Given the description of an element on the screen output the (x, y) to click on. 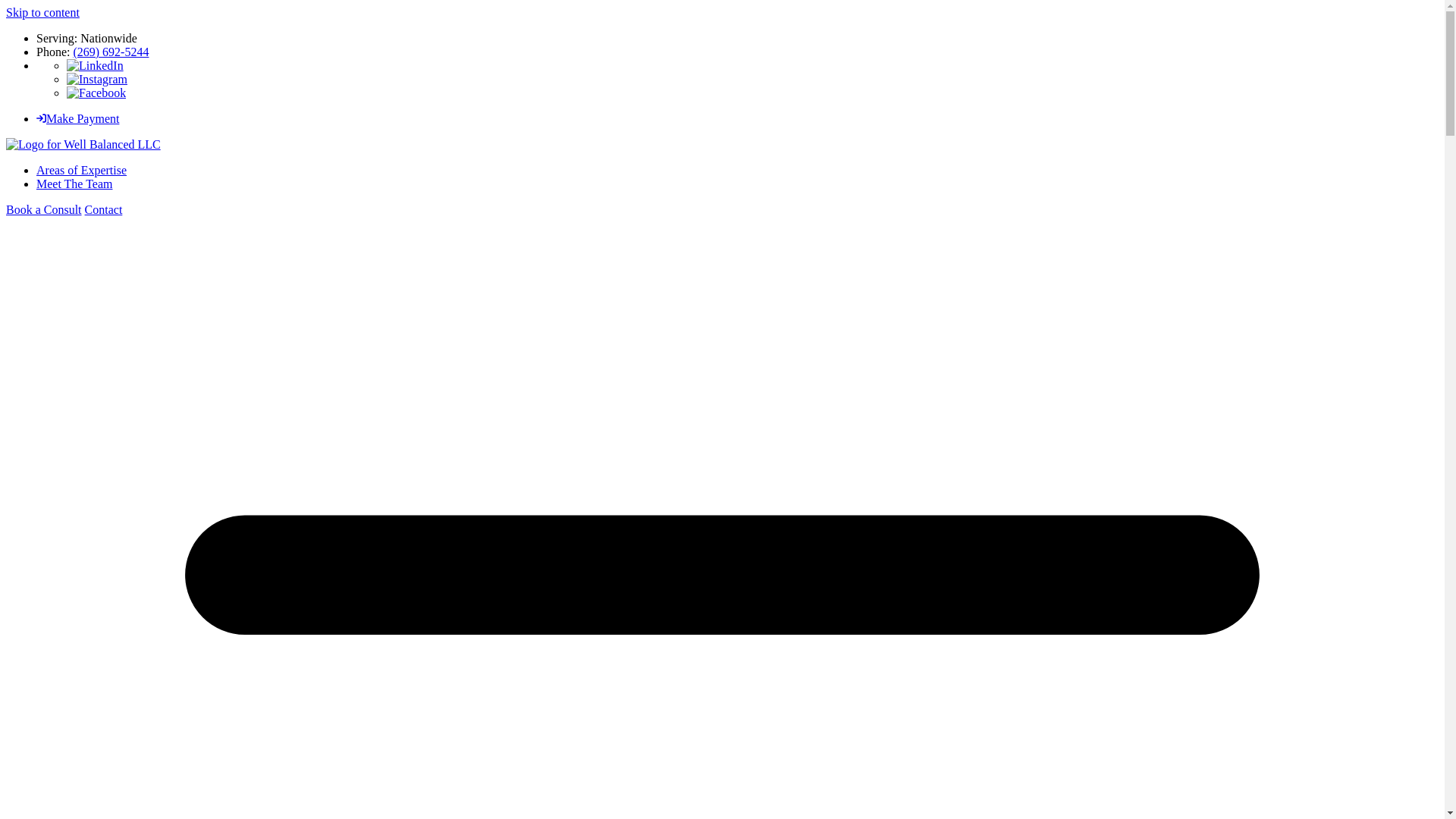
Meet The Team (74, 183)
Contact (103, 209)
Areas of Expertise (81, 169)
Book a Consult (43, 209)
Skip to content (42, 11)
Make Payment (77, 118)
